Given the description of an element on the screen output the (x, y) to click on. 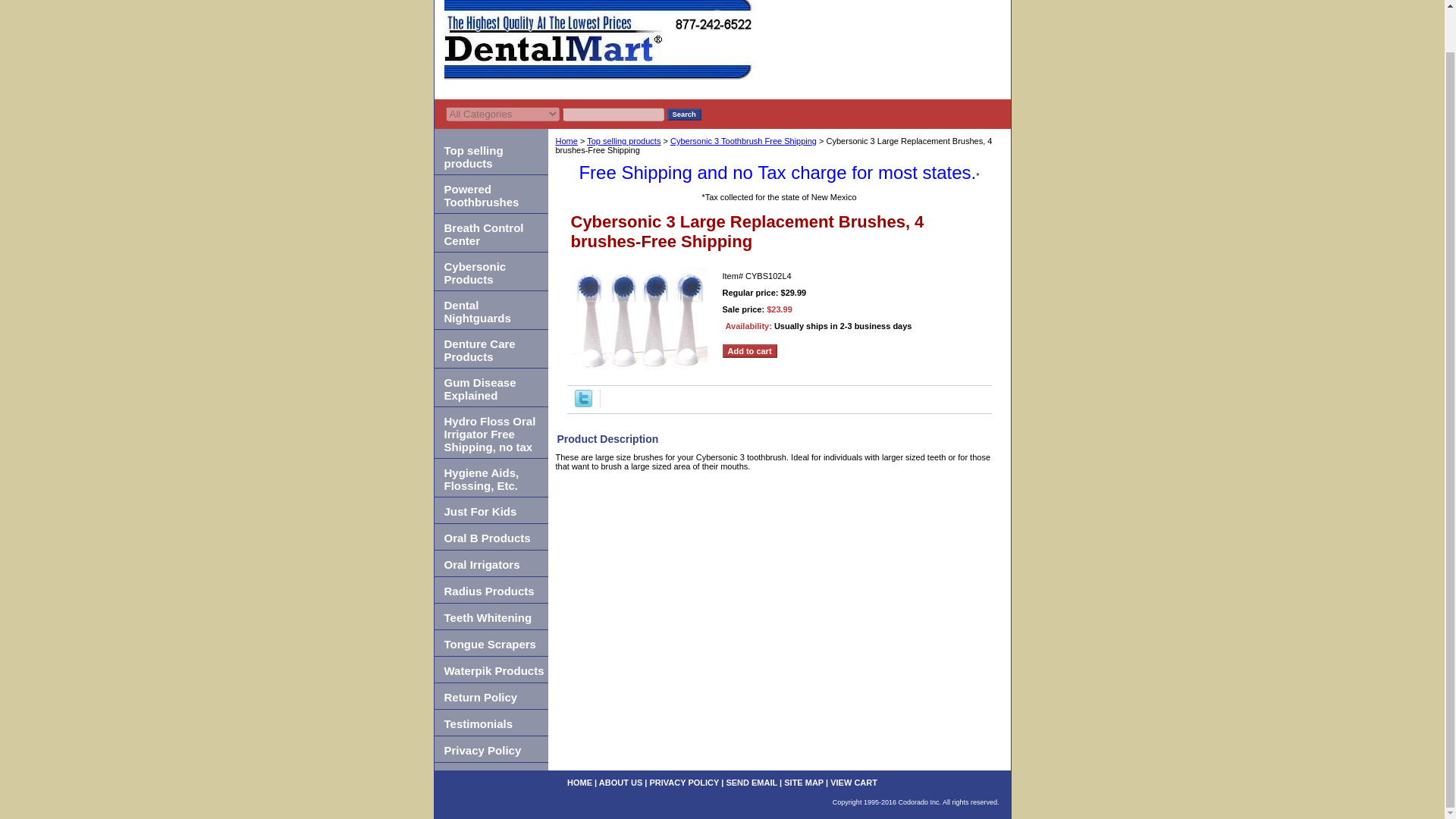
Cybersonic Products (490, 271)
Top selling products (490, 155)
Just For Kids (490, 510)
Privacy Policy (490, 749)
Tongue Scrapers (490, 642)
Radius Products (490, 590)
Search (683, 114)
Gum Disease Explained (490, 387)
Dental Nightguards (490, 310)
PRIVACY POLICY (684, 782)
Return Policy (490, 696)
Hygiene Aids, Flossing, Etc. (490, 477)
Home (565, 140)
Tweet (583, 403)
Dental Nightguards (490, 310)
